Given the description of an element on the screen output the (x, y) to click on. 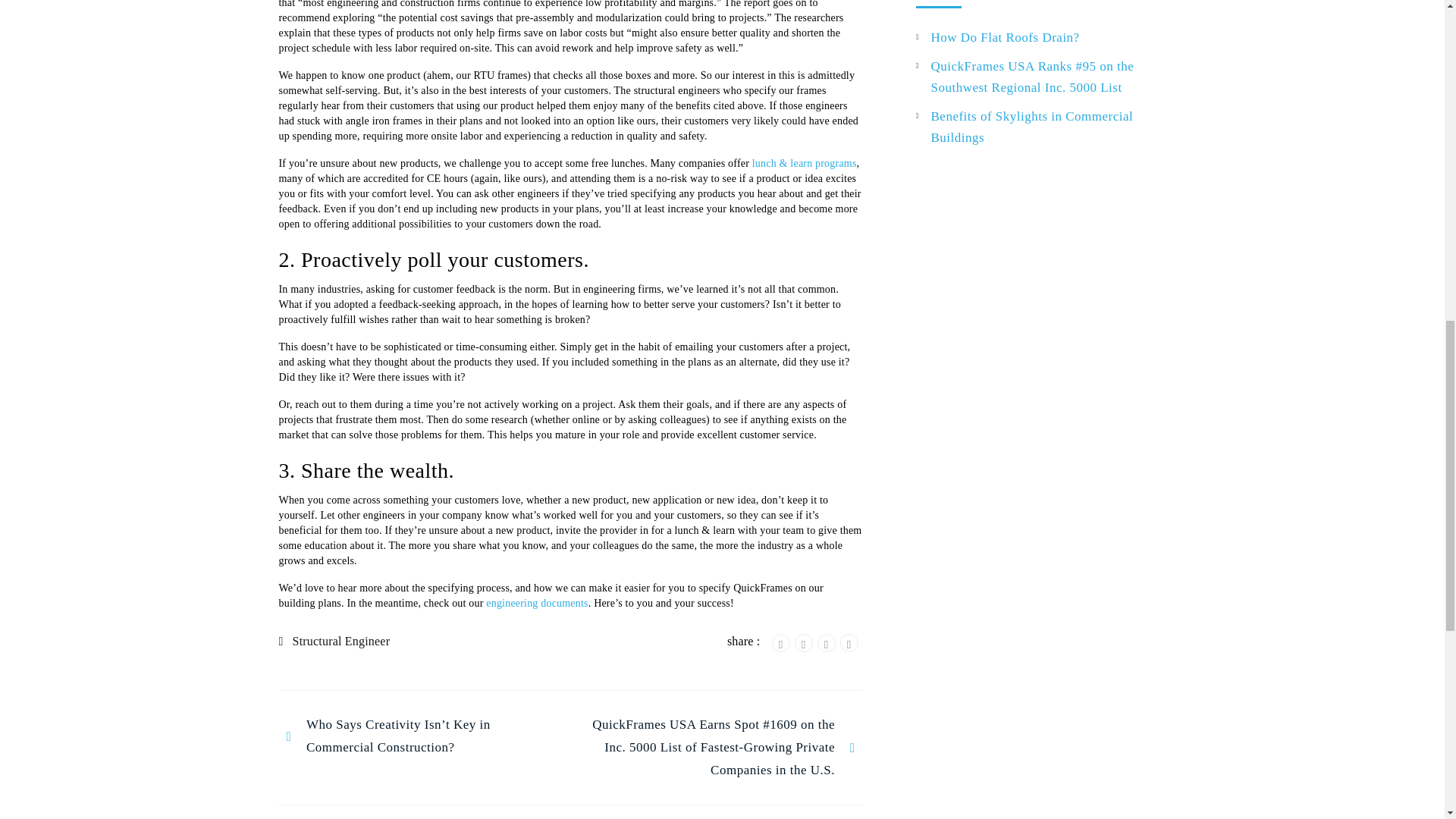
Click to send this page to Twitter! (803, 642)
